Given the description of an element on the screen output the (x, y) to click on. 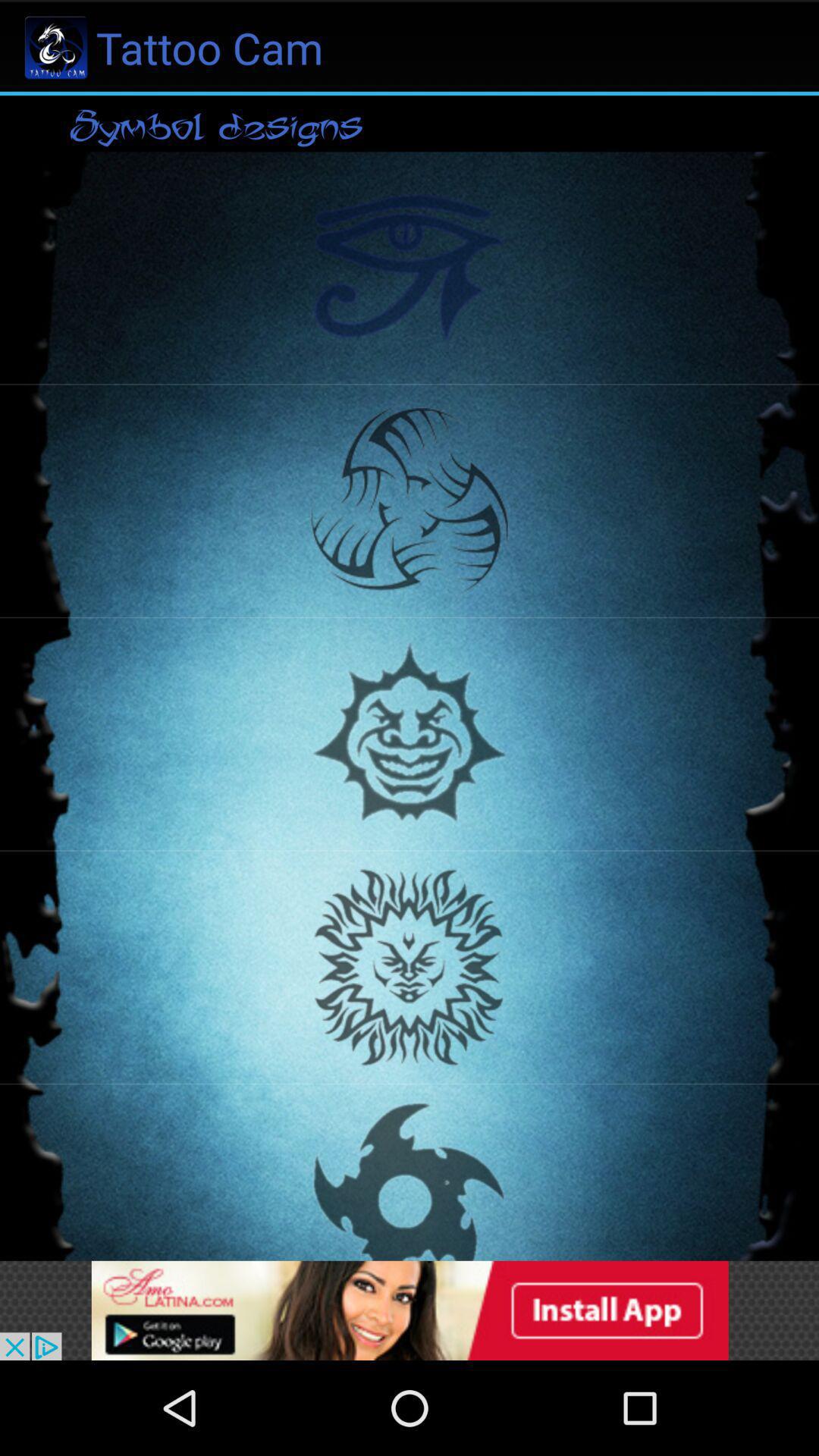
tattoo cam (409, 1310)
